Given the description of an element on the screen output the (x, y) to click on. 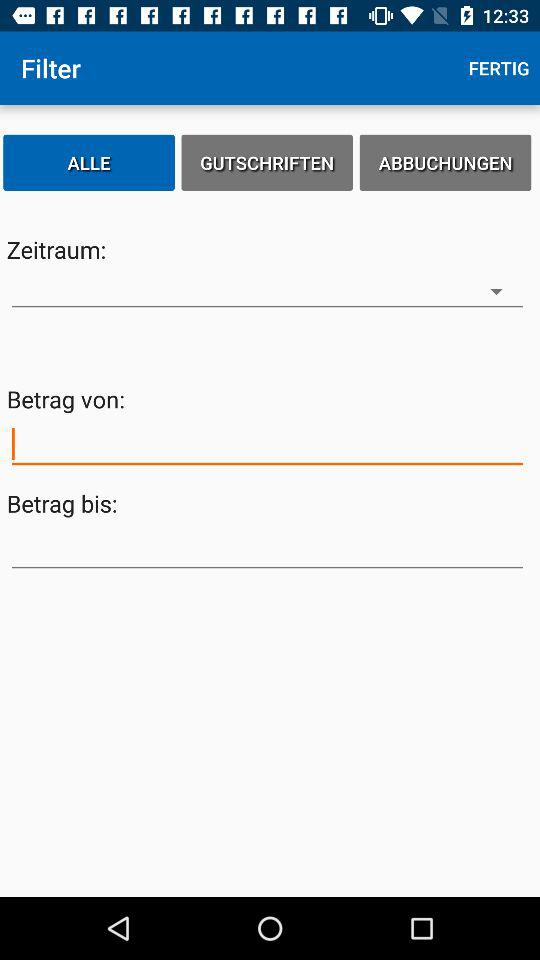
click item next to the alle item (267, 162)
